Given the description of an element on the screen output the (x, y) to click on. 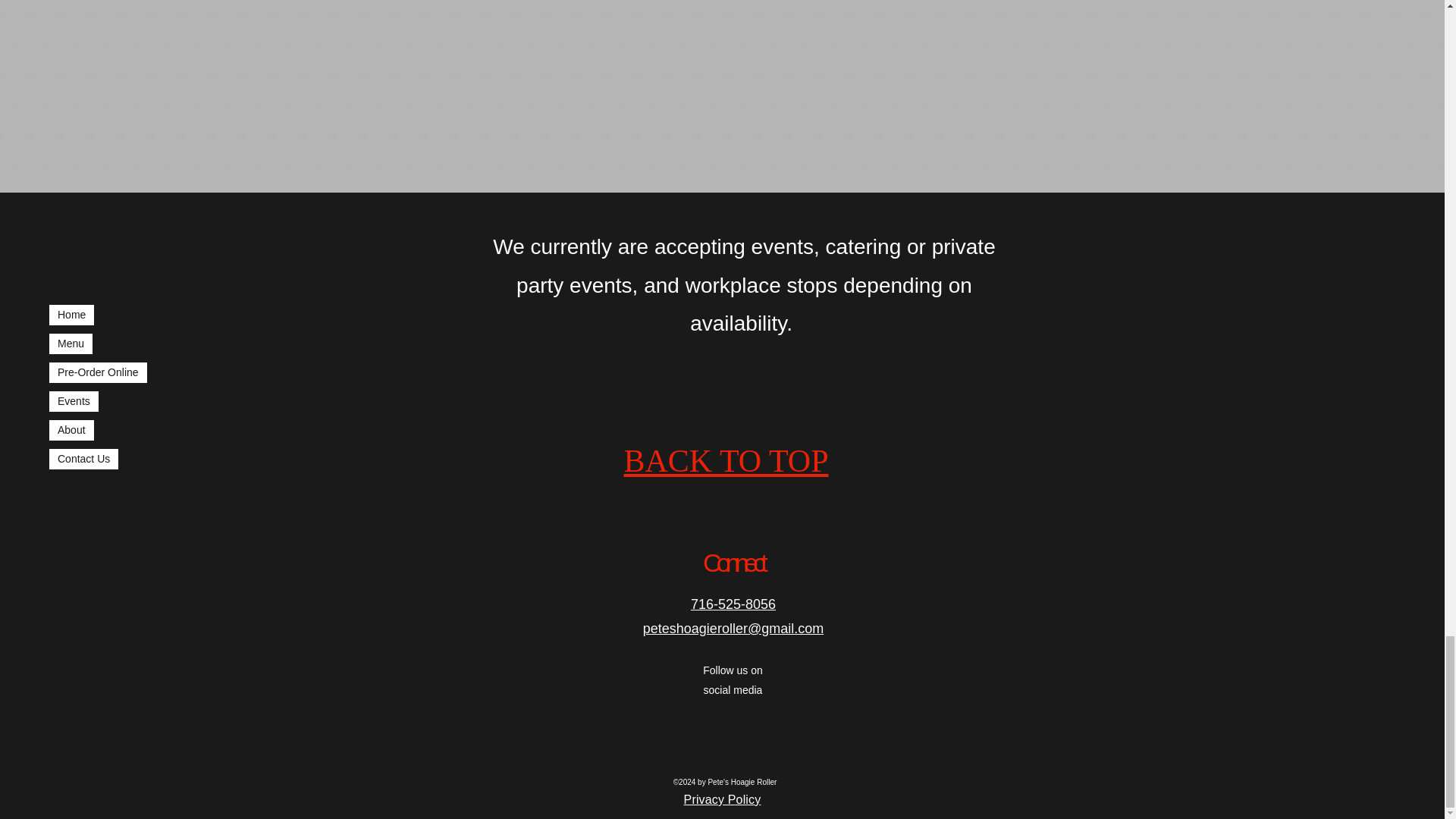
716-525-8056 (733, 604)
BACK TO TOP (725, 460)
Privacy Policy (722, 799)
